Given the description of an element on the screen output the (x, y) to click on. 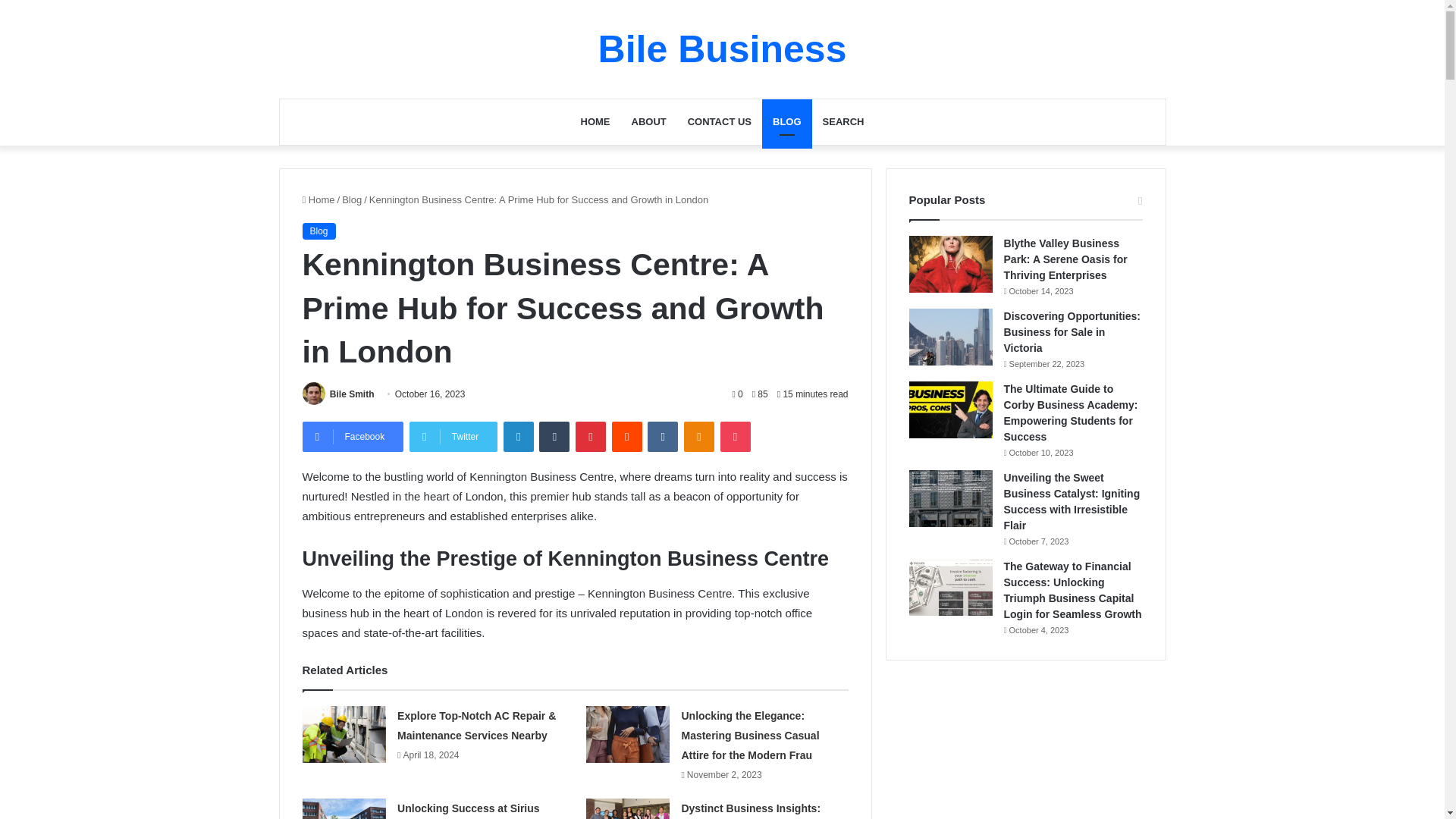
SEARCH (843, 121)
Bile Business (722, 48)
Blog (317, 230)
VKontakte (662, 436)
BLOG (786, 121)
HOME (595, 121)
Tumblr (553, 436)
Bile Smith (352, 394)
Pinterest (590, 436)
LinkedIn (518, 436)
Bile Business (722, 48)
Odnoklassniki (699, 436)
Reddit (626, 436)
